Given the description of an element on the screen output the (x, y) to click on. 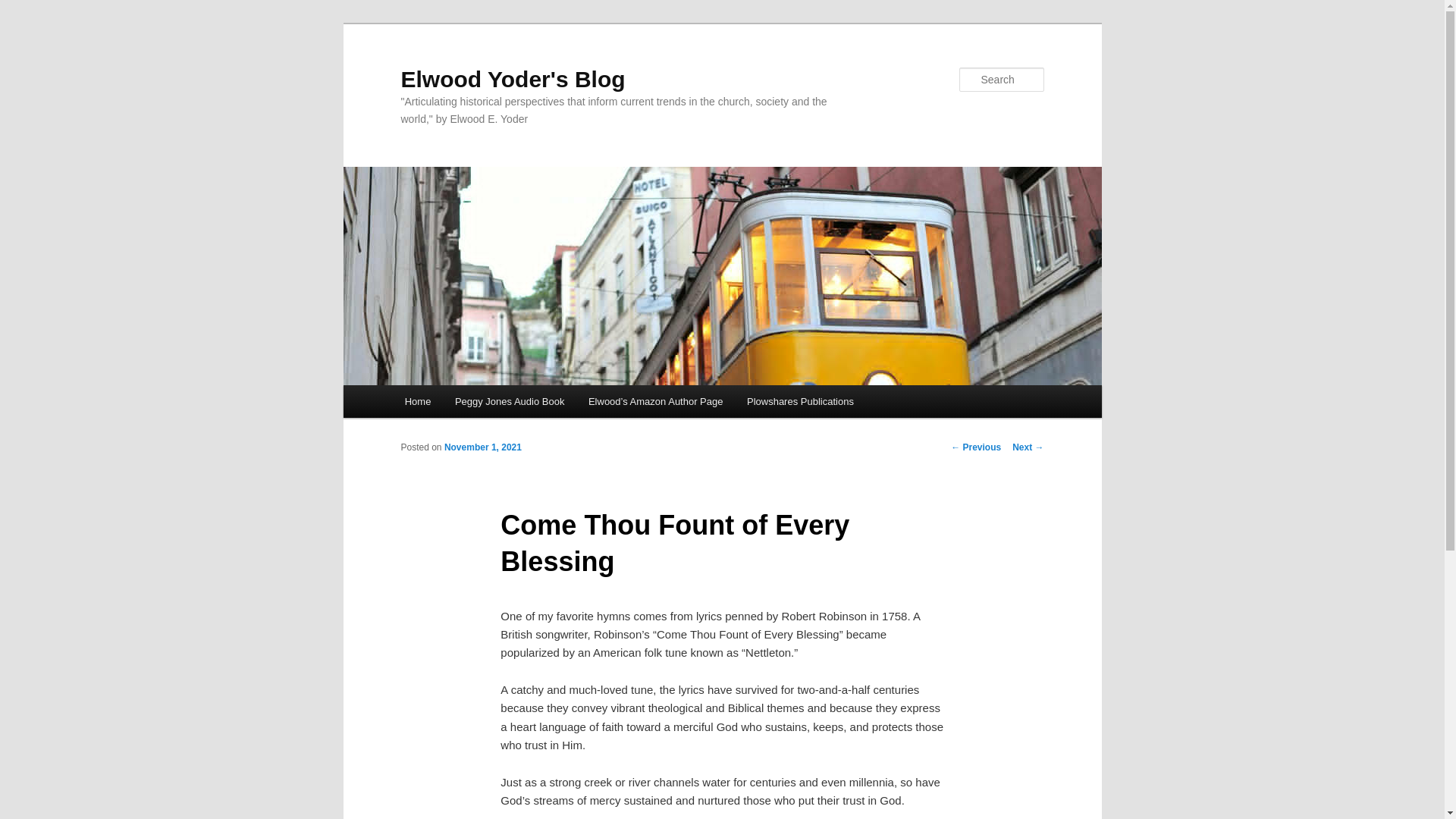
Home (417, 400)
Peggy Jones Audio Book (509, 400)
11:35 am (482, 447)
Plowshares Publications (799, 400)
Elwood Yoder's Blog (512, 78)
Search (24, 8)
November 1, 2021 (482, 447)
